Given the description of an element on the screen output the (x, y) to click on. 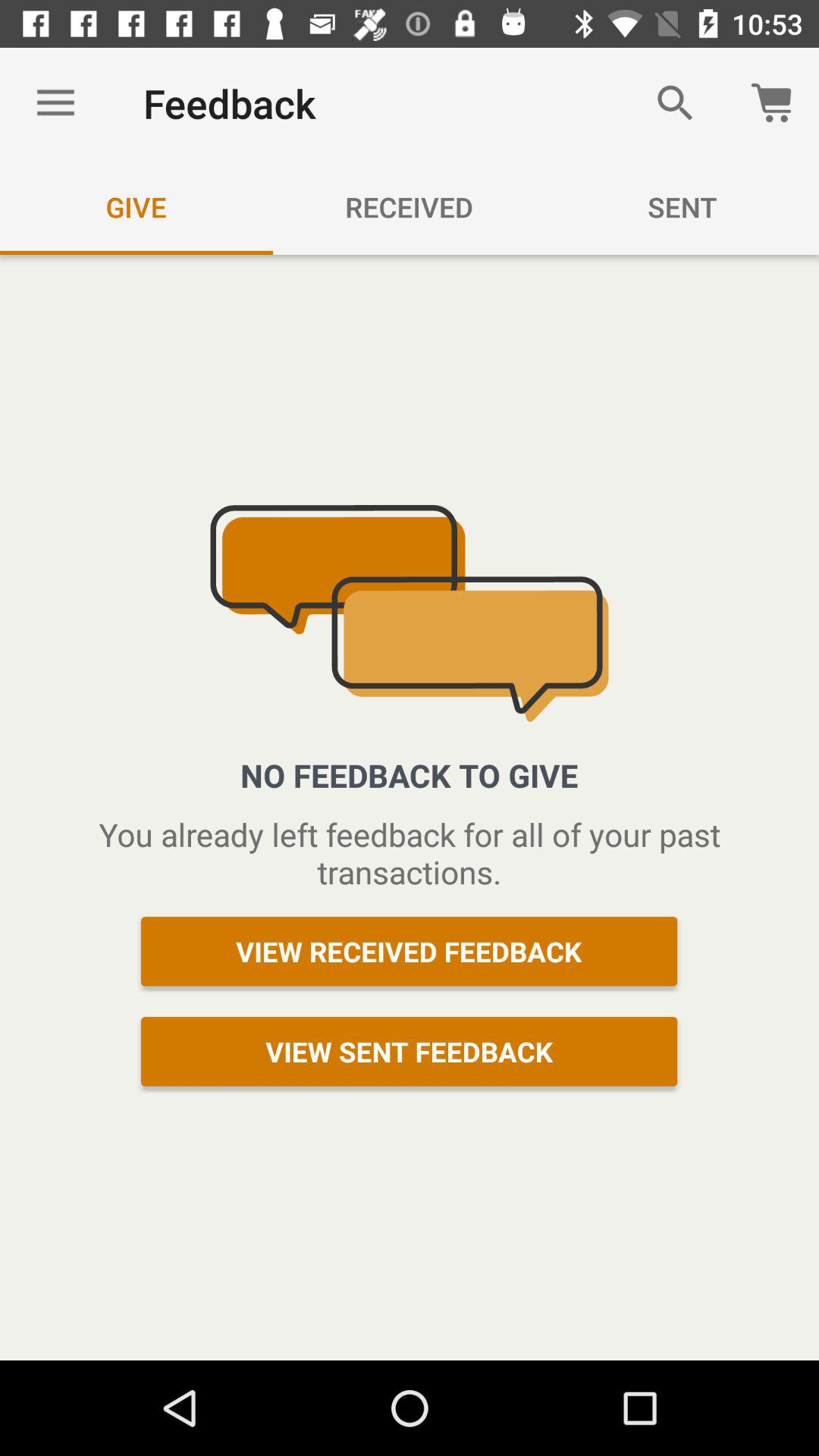
open icon next to the feedback item (675, 103)
